Given the description of an element on the screen output the (x, y) to click on. 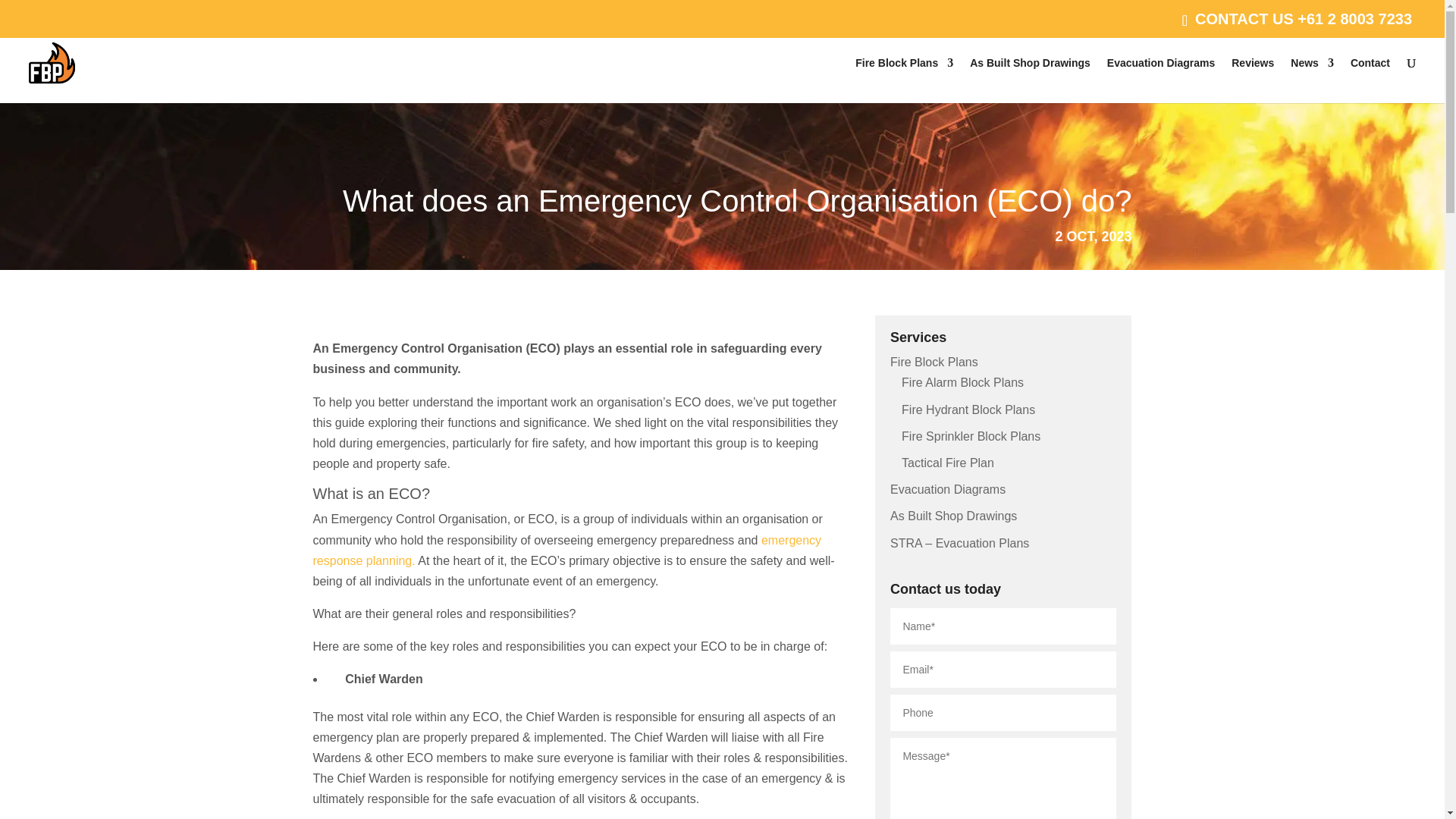
Fire Hydrant Block Plans (968, 409)
Evacuation Diagrams (947, 489)
Fire Alarm Block Plans (962, 382)
As Built Shop Drawings (1029, 79)
emergency response planning. (567, 550)
Reviews (1252, 79)
Fire Block Plans (904, 79)
As Built Shop Drawings (952, 515)
News (1311, 79)
Fire Block Plans (933, 361)
